Given the description of an element on the screen output the (x, y) to click on. 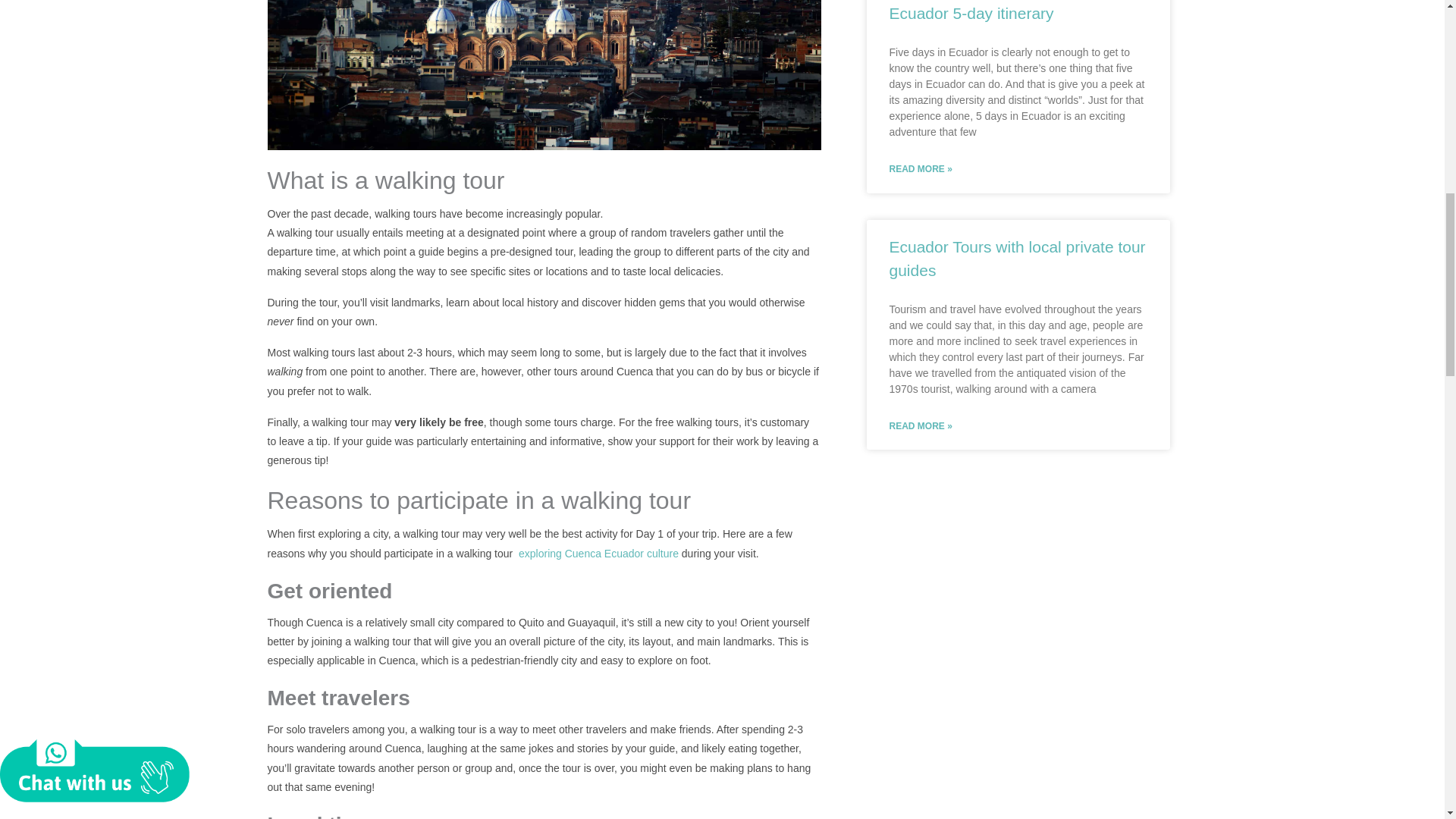
Walking tour Cuenca (543, 74)
